Given the description of an element on the screen output the (x, y) to click on. 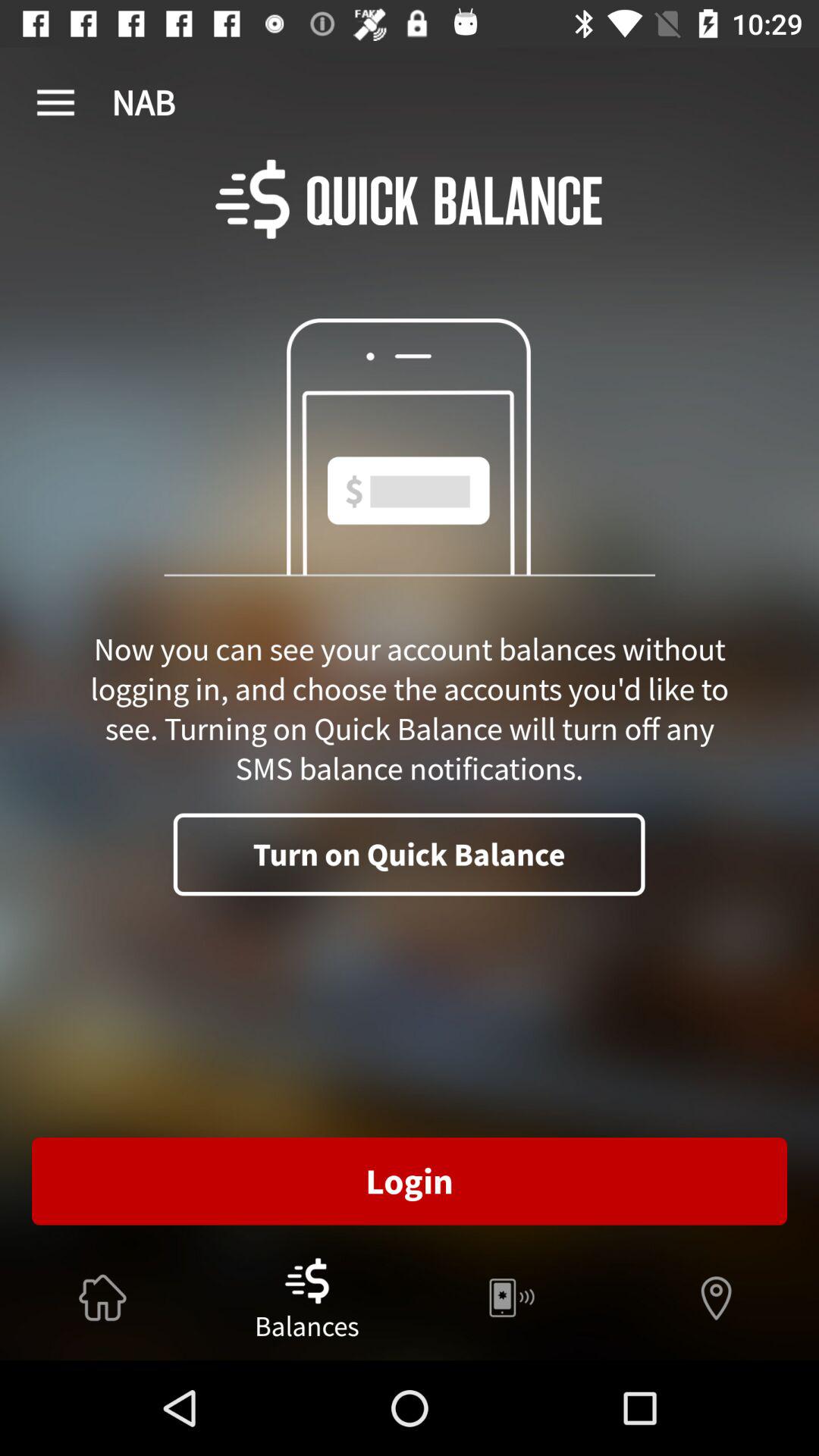
turn off icon next to nab (55, 103)
